Given the description of an element on the screen output the (x, y) to click on. 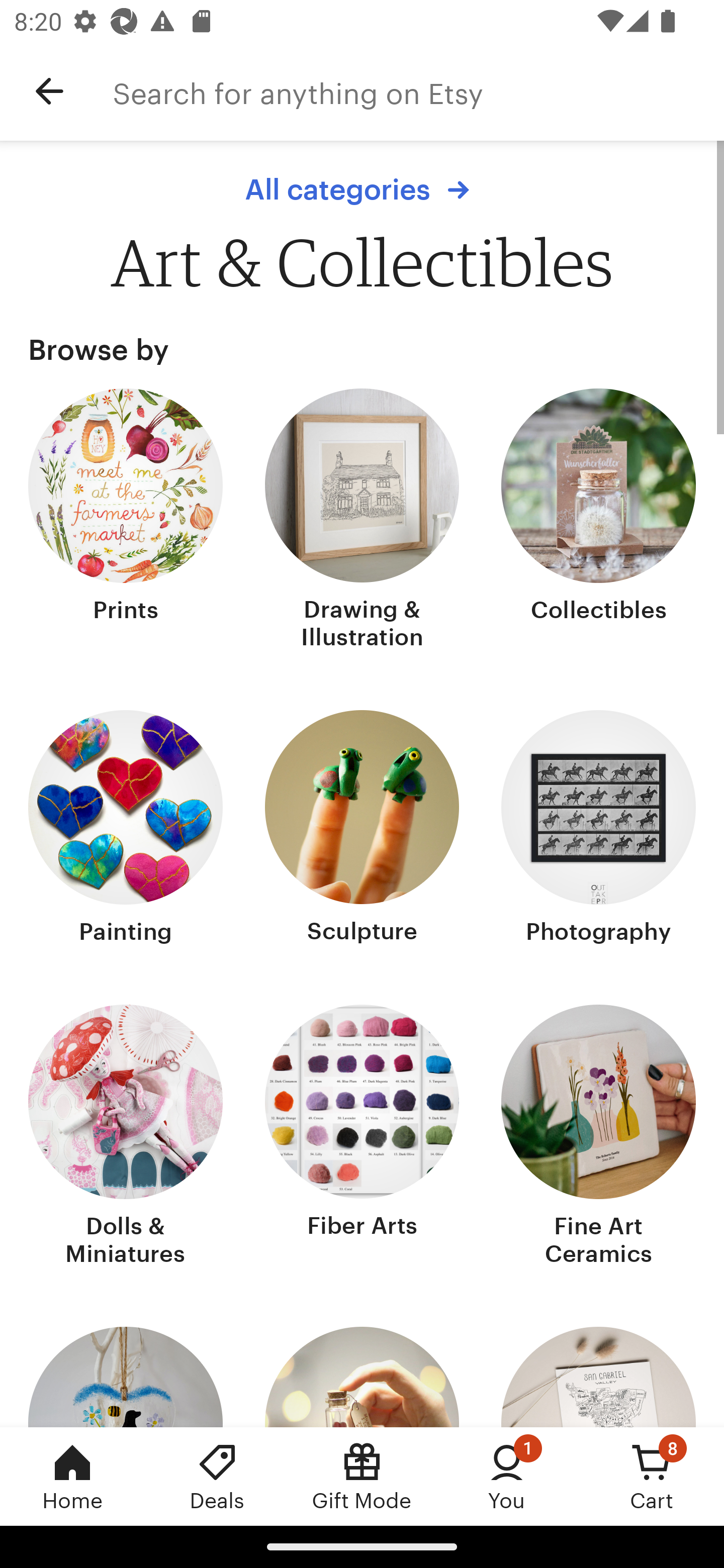
Navigate up (49, 91)
Search for anything on Etsy (418, 91)
All categories (361, 189)
Prints (125, 520)
Drawing & Illustration (361, 520)
Collectibles (598, 520)
Painting (125, 829)
Sculpture (361, 829)
Photography (598, 829)
Dolls & Miniatures (125, 1137)
Fiber Arts (361, 1137)
Fine Art Ceramics (598, 1137)
Deals (216, 1475)
Gift Mode (361, 1475)
You, 1 new notification You (506, 1475)
Cart, 8 new notifications Cart (651, 1475)
